Given the description of an element on the screen output the (x, y) to click on. 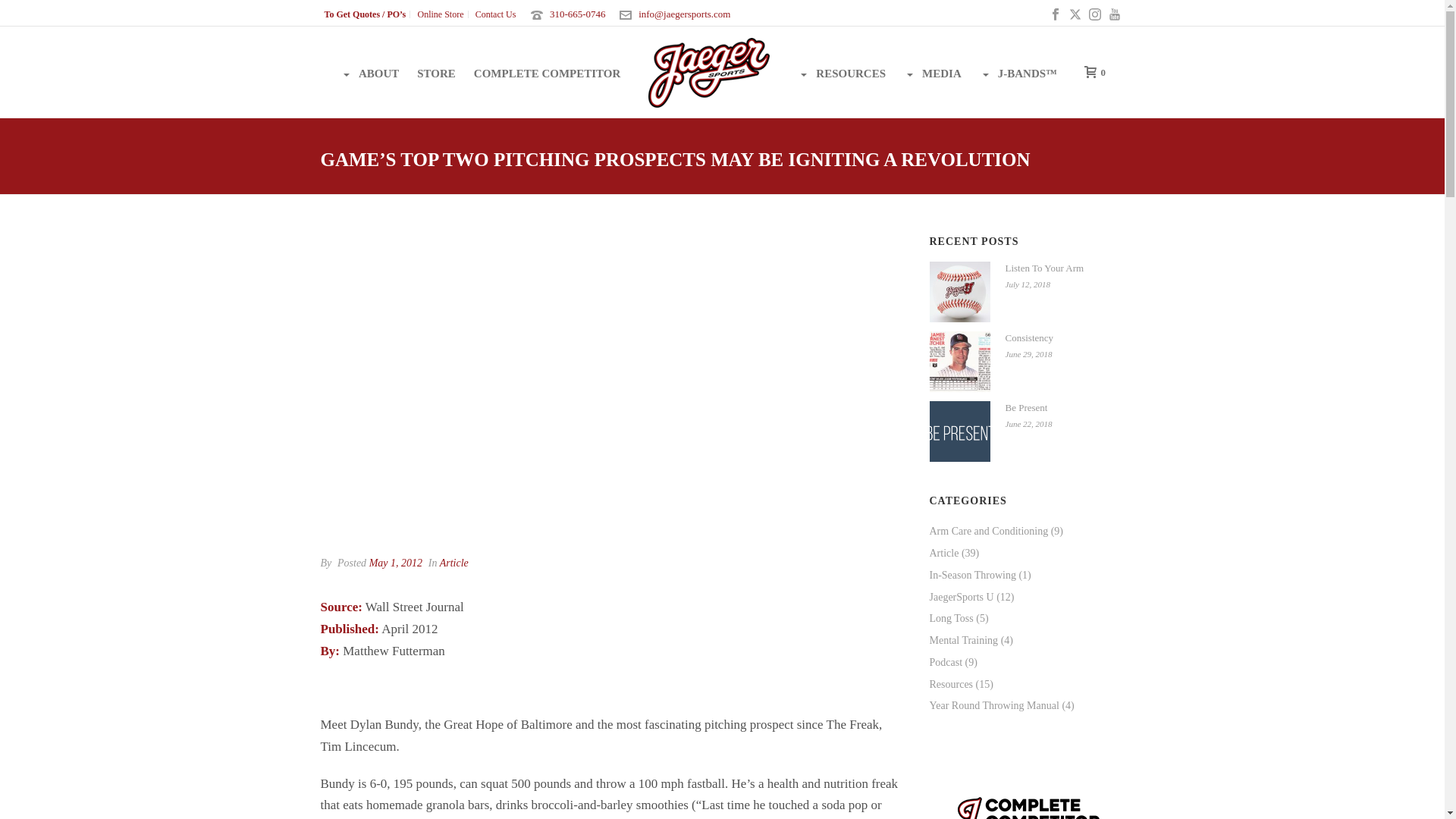
Send Unlock Email (612, 265)
Documentation (540, 515)
Send Unlock Email (612, 265)
